Given the description of an element on the screen output the (x, y) to click on. 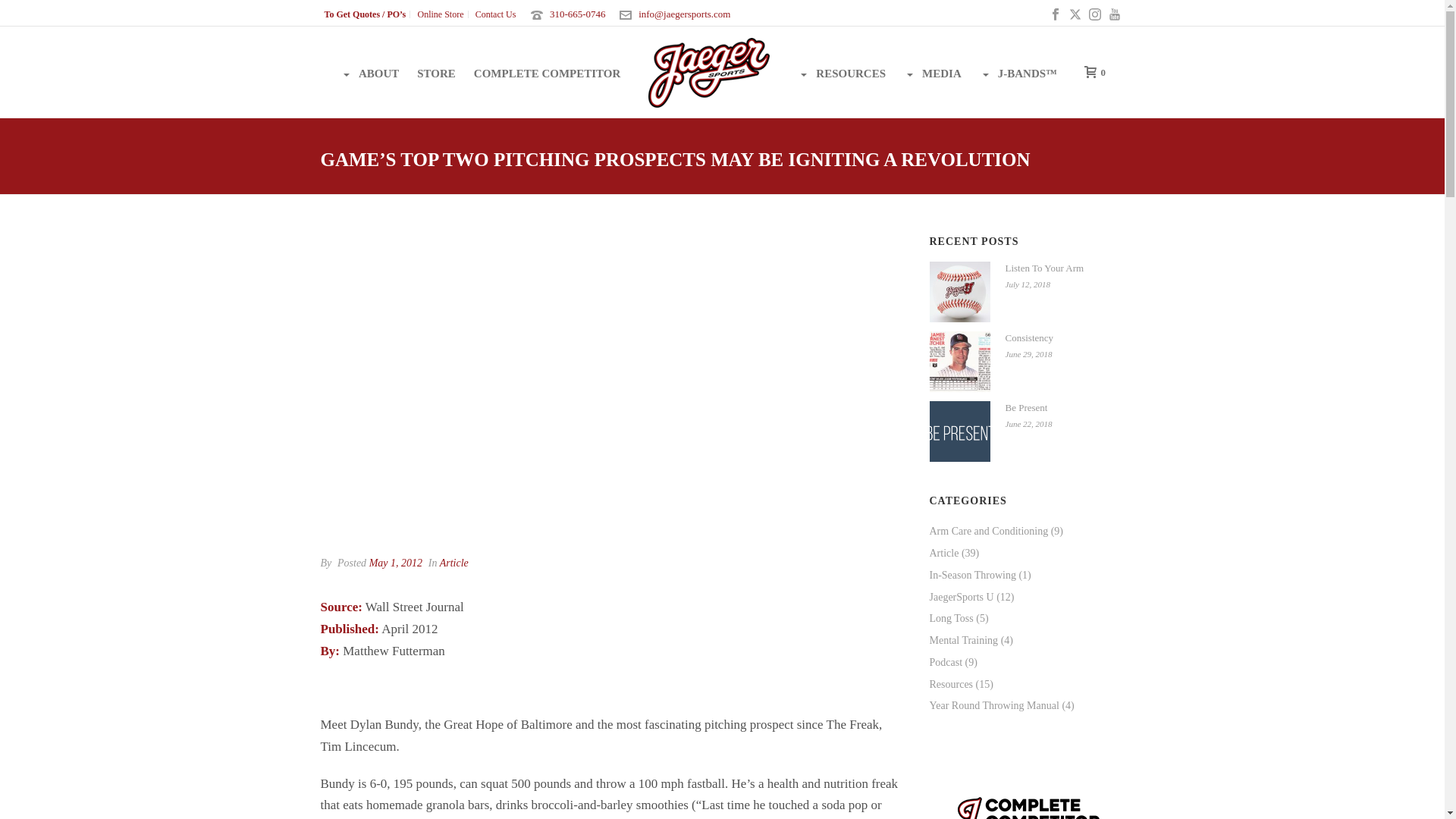
Send Unlock Email (612, 265)
Documentation (540, 515)
Send Unlock Email (612, 265)
